Given the description of an element on the screen output the (x, y) to click on. 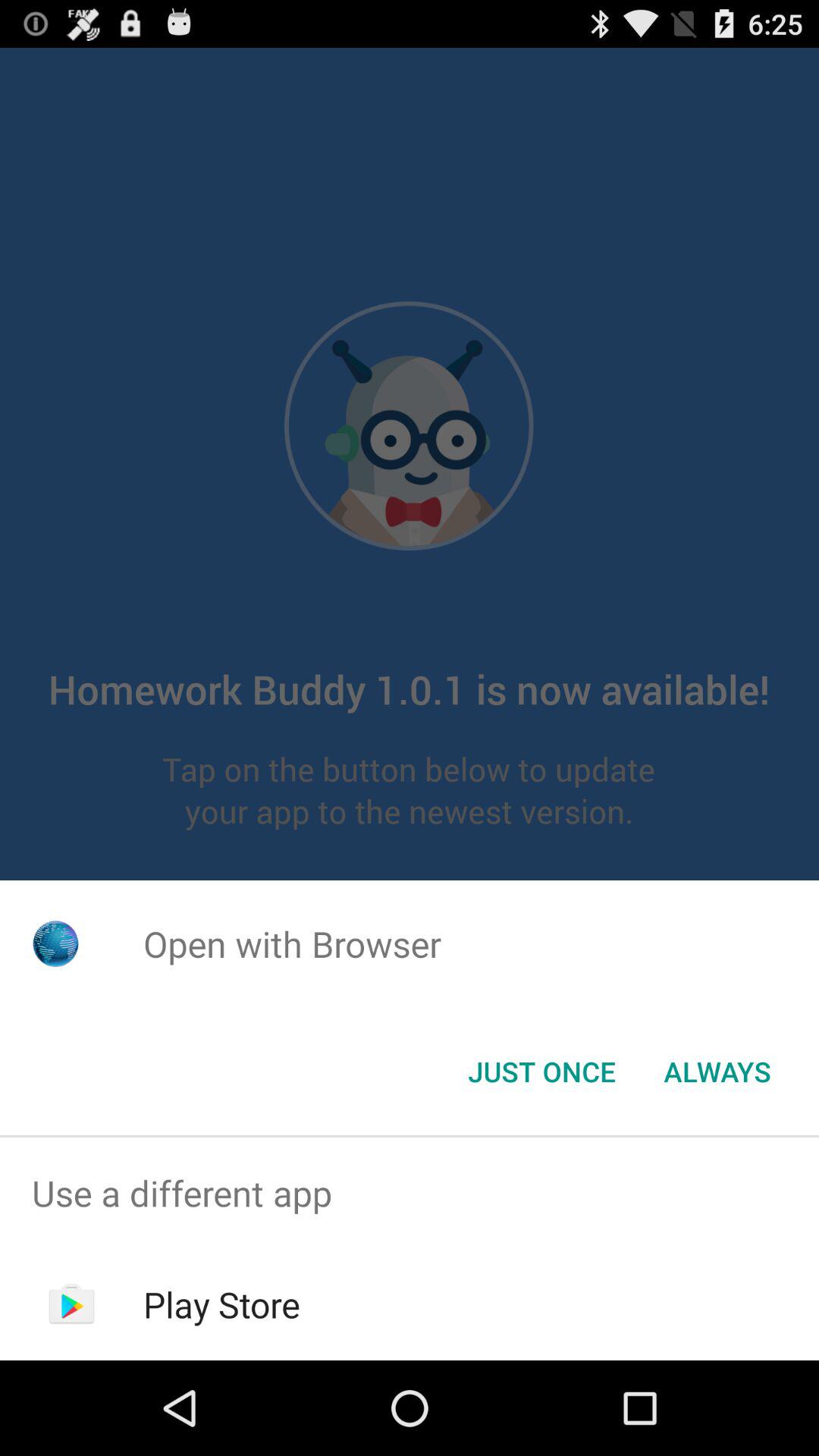
swipe until the always icon (717, 1071)
